Given the description of an element on the screen output the (x, y) to click on. 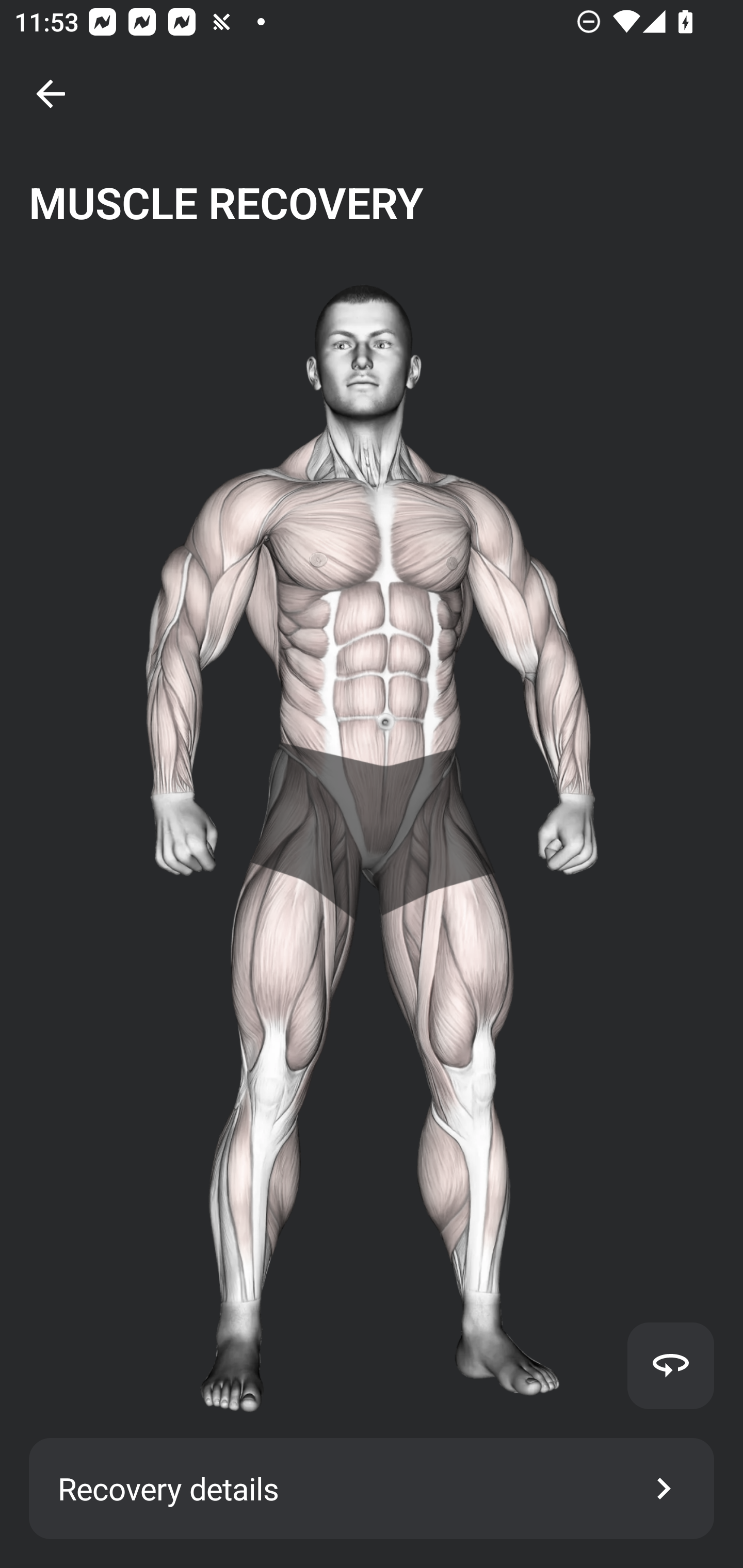
Back Icon (50, 93)
Turn icon (670, 1365)
Recovery details Next icon (371, 1488)
